Given the description of an element on the screen output the (x, y) to click on. 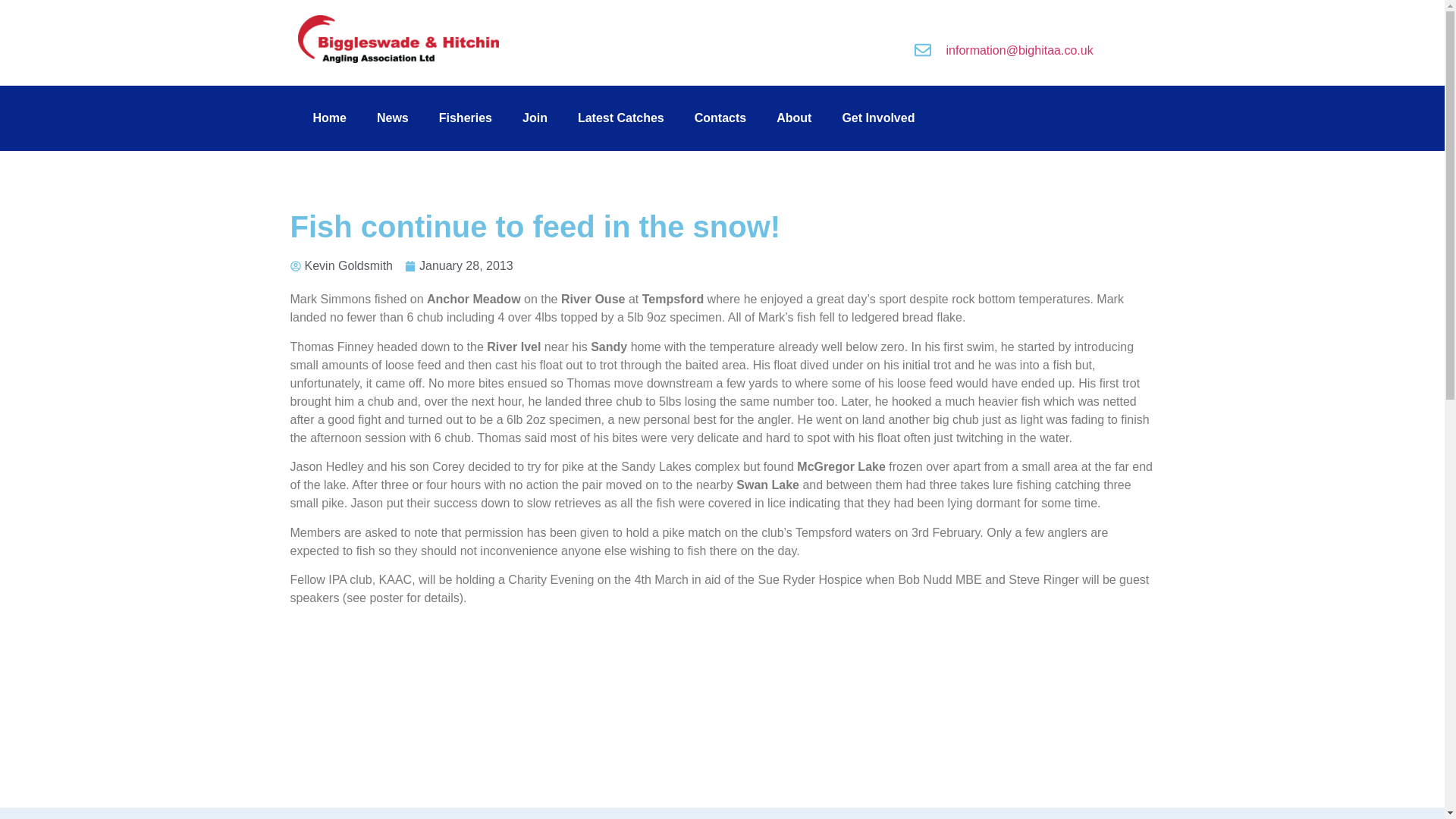
About (794, 117)
Kevin Goldsmith (341, 266)
Contacts (720, 117)
January 28, 2013 (458, 266)
Get Involved (878, 117)
Home (329, 117)
Latest Catches (620, 117)
Fisheries (464, 117)
Join (534, 117)
News (392, 117)
